Given the description of an element on the screen output the (x, y) to click on. 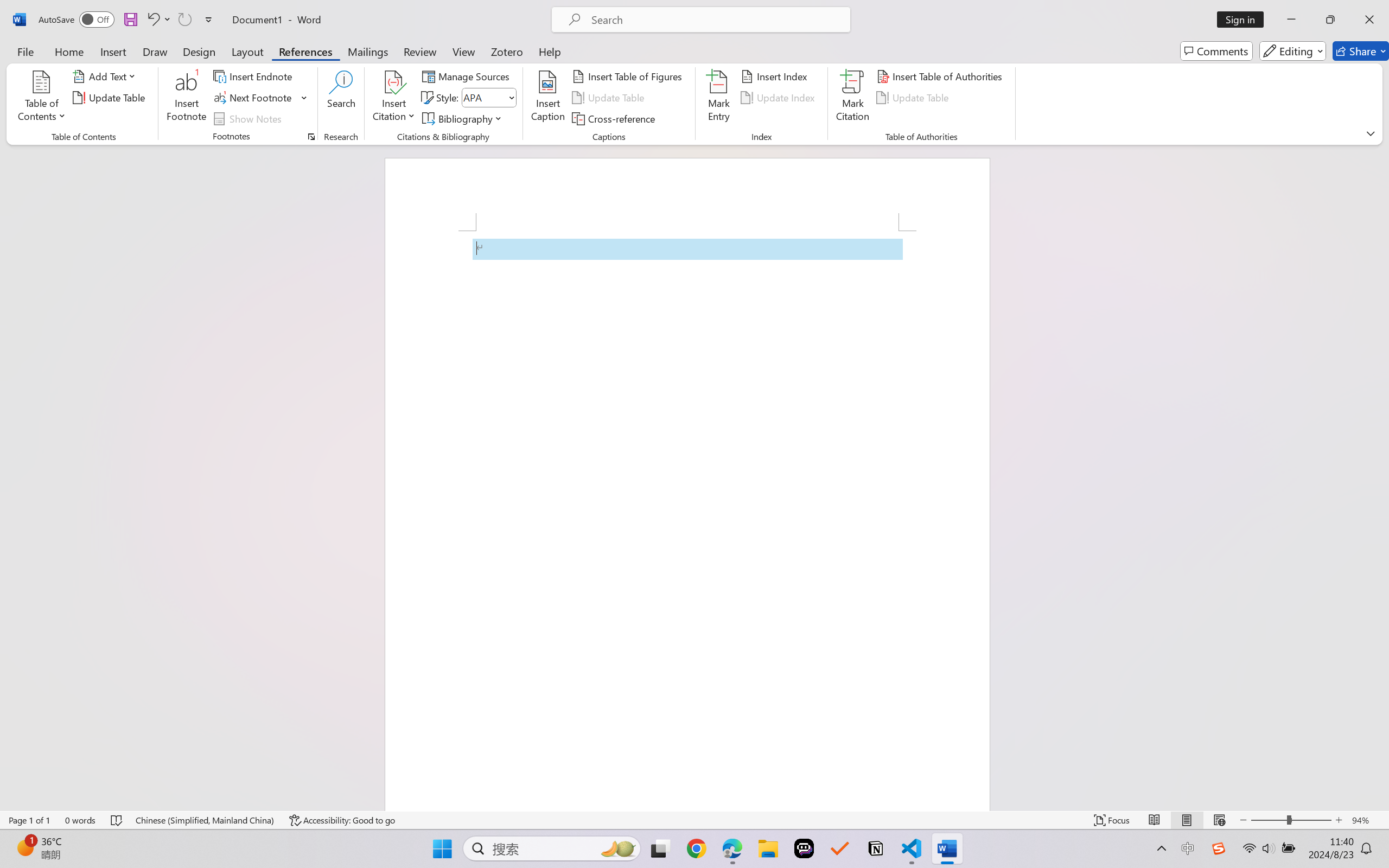
Insert Index... (775, 75)
Search (341, 97)
Manage Sources... (467, 75)
Undo Apply Quick Style (152, 19)
Footnote and Endnote Dialog... (311, 136)
Add Text (106, 75)
